Given the description of an element on the screen output the (x, y) to click on. 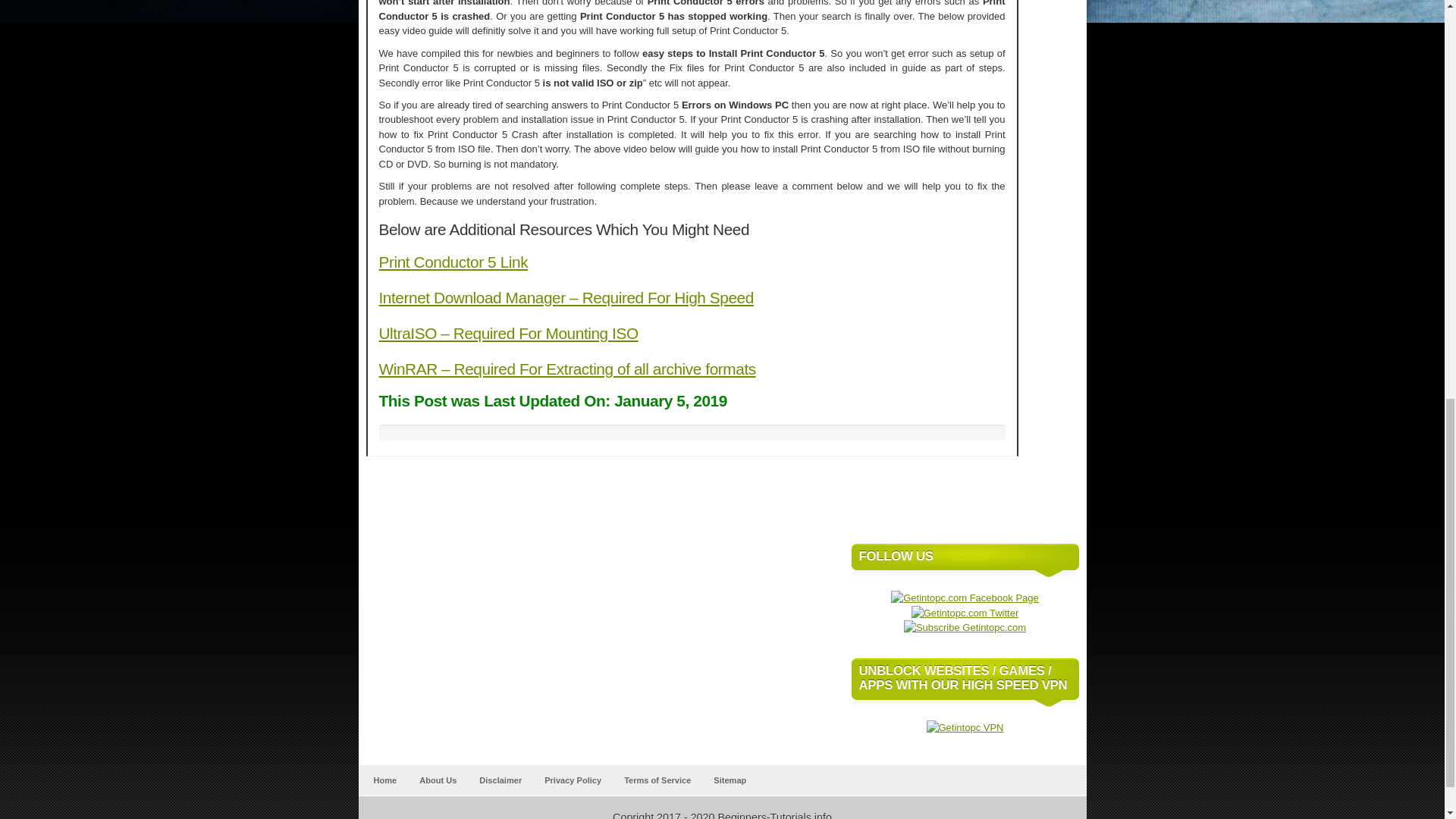
Search Website (1057, 511)
Print Conductor 5 Link (453, 262)
Home (384, 780)
Disclaimer (500, 780)
Privacy Policy (572, 780)
About Us (438, 780)
Print Conductor 5 Link (453, 262)
Internet Download Manager - Required For High Speed (566, 297)
UltraISO - Required For Mounting ISO (508, 333)
Sitemap (730, 780)
Terms of Service (656, 780)
